Given the description of an element on the screen output the (x, y) to click on. 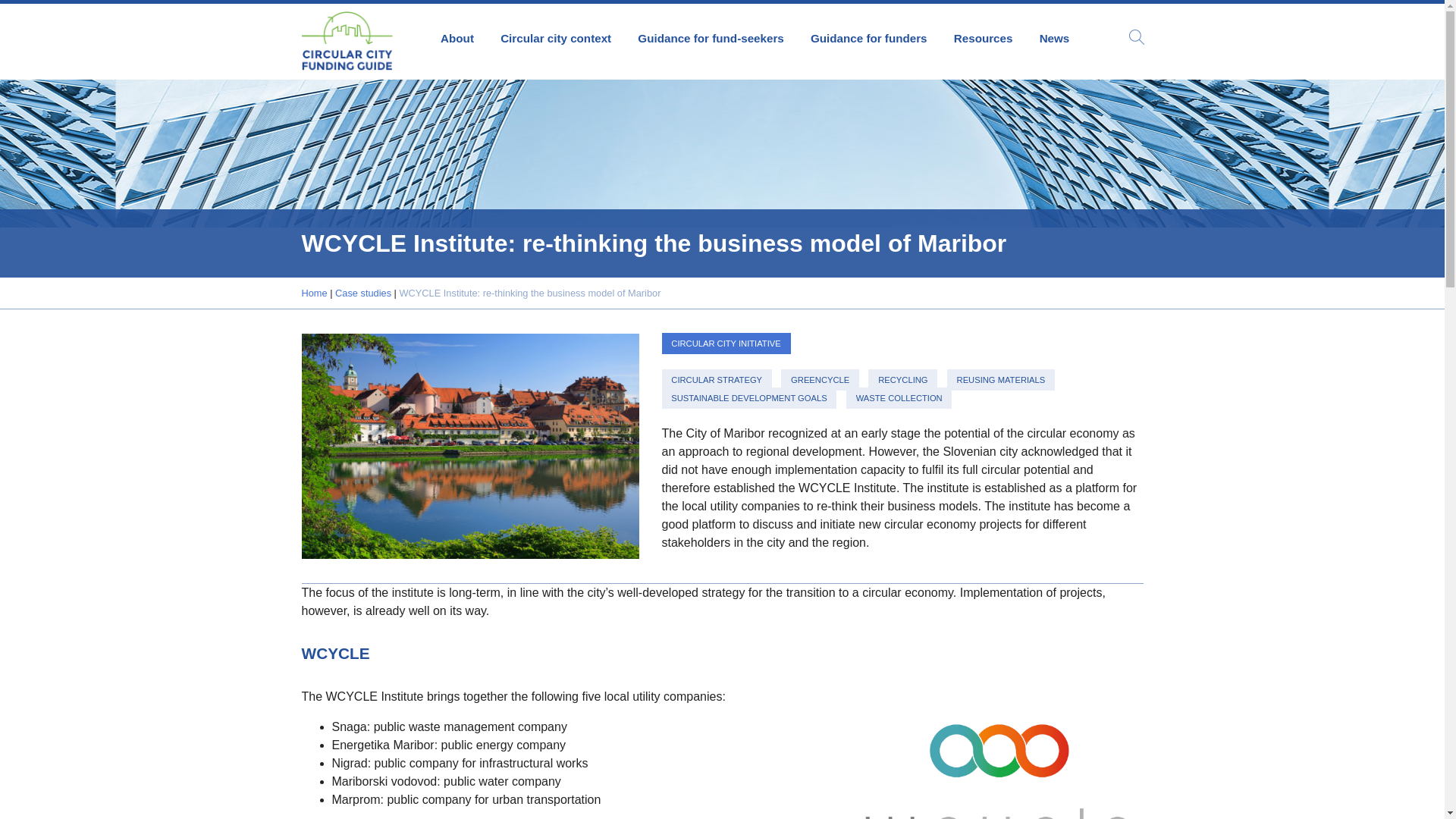
About (457, 42)
Guidance for funders (868, 42)
Home (314, 292)
Case studies (362, 292)
Guidance for fund-seekers (710, 42)
Guidance for funders (868, 42)
Circular city context (555, 42)
Guidance for fund-seekers (710, 42)
Circular city context (555, 42)
About (457, 42)
